Given the description of an element on the screen output the (x, y) to click on. 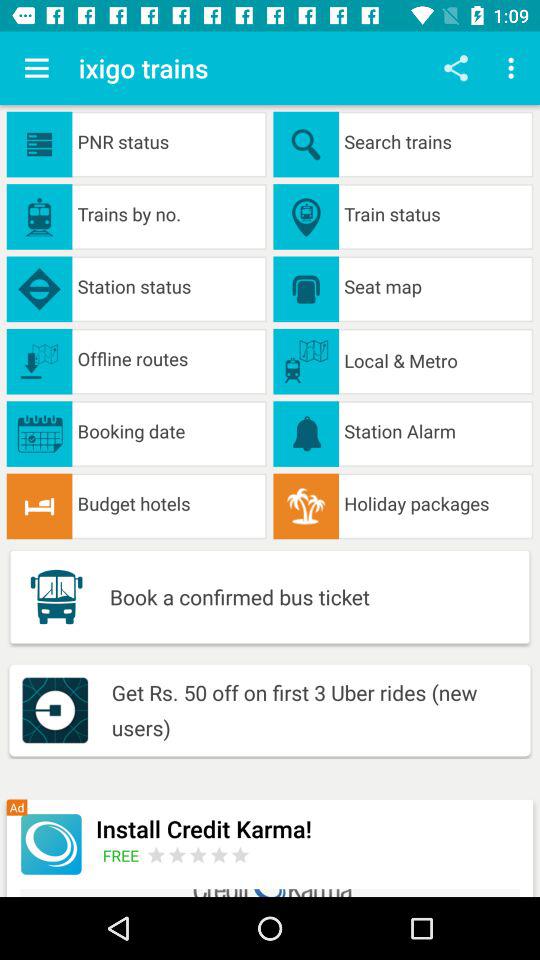
press item above the search trains (513, 67)
